Given the description of an element on the screen output the (x, y) to click on. 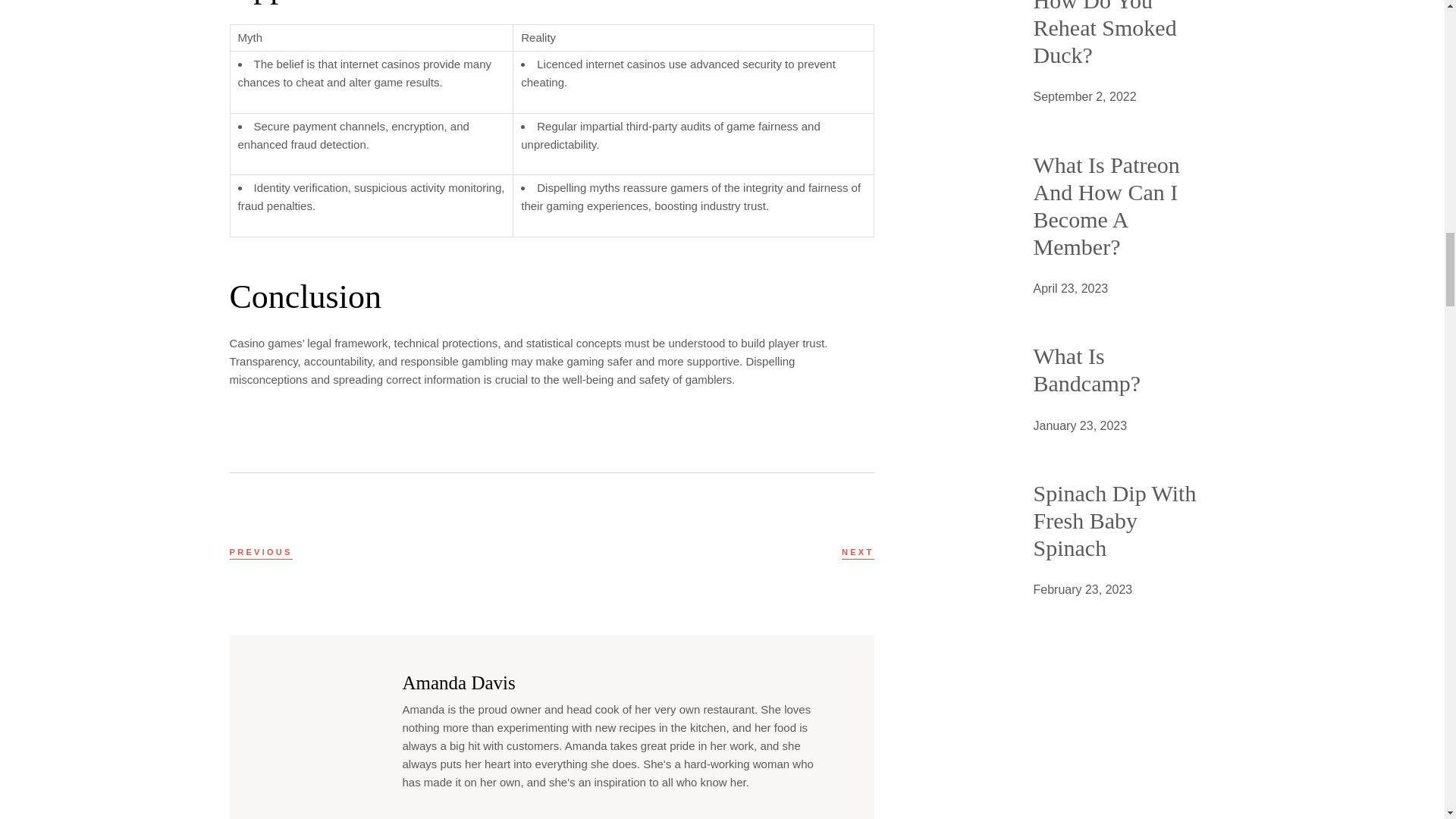
Title Text:  (1070, 288)
Title Text:  (1082, 589)
Title Text:  (1079, 425)
Title Text:  (1083, 96)
NEXT (858, 552)
Amanda Davis (458, 682)
PREVIOUS (260, 552)
